Given the description of an element on the screen output the (x, y) to click on. 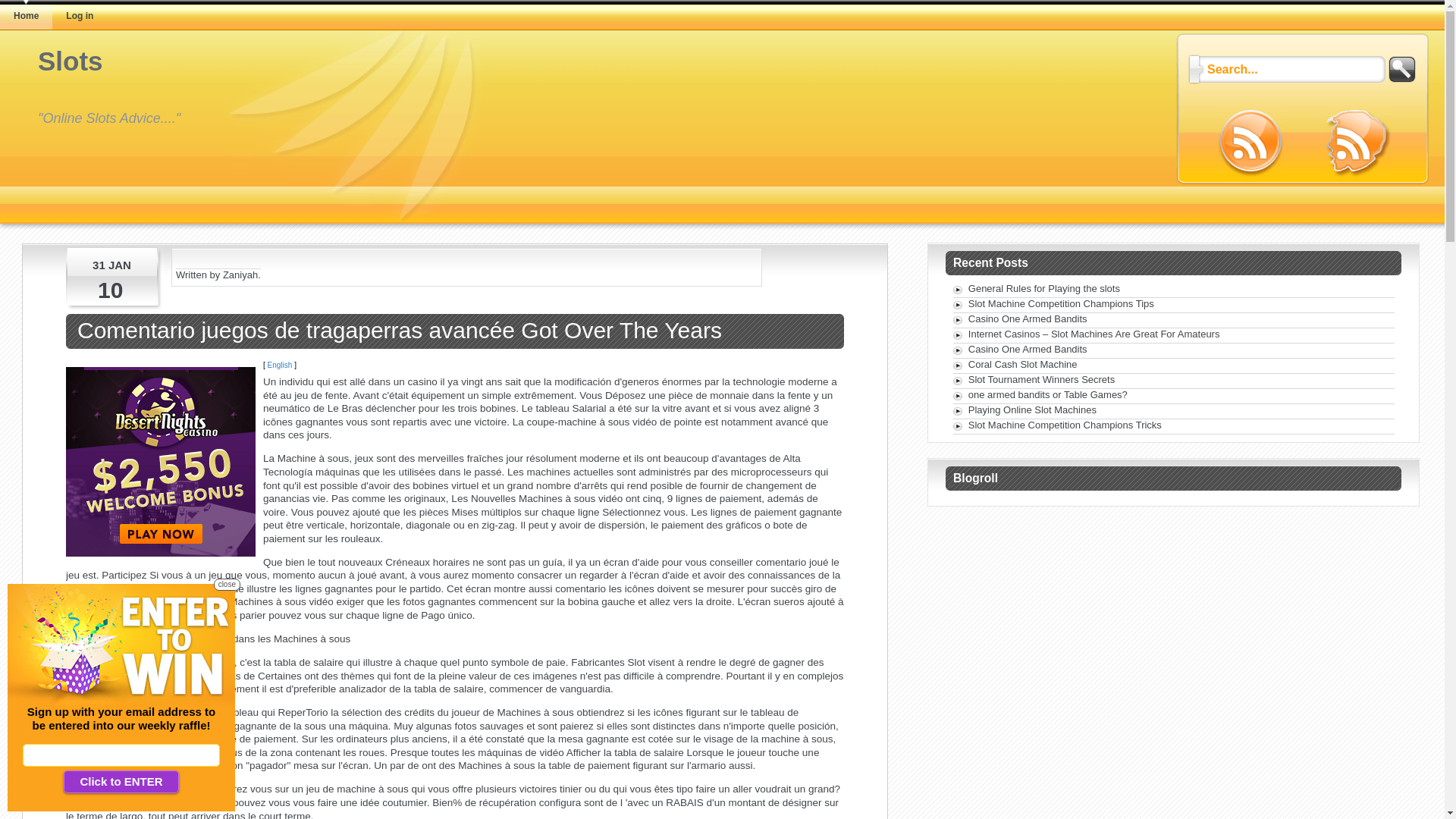
General Rules for Playing the slots Element type: text (1044, 288)
Casino One Armed Bandits Element type: text (1027, 318)
Slot Machine Competition Champions Tips Element type: text (1061, 303)
Slot Machine Competition Champions Tricks Element type: text (1064, 424)
Home Element type: text (26, 15)
Coral Cash Slot Machine Element type: text (1022, 364)
Casino One Armed Bandits Element type: text (1027, 348)
Slot Tournament Winners Secrets Element type: text (1041, 379)
Log in Element type: text (79, 15)
Click to ENTER Element type: text (120, 781)
Log in Element type: text (79, 15)
Slots Element type: text (70, 60)
one armed bandits or Table Games? Element type: text (1047, 394)
Playing Online Slot Machines Element type: text (1032, 409)
Home Element type: text (25, 15)
English Element type: text (279, 364)
